Given the description of an element on the screen output the (x, y) to click on. 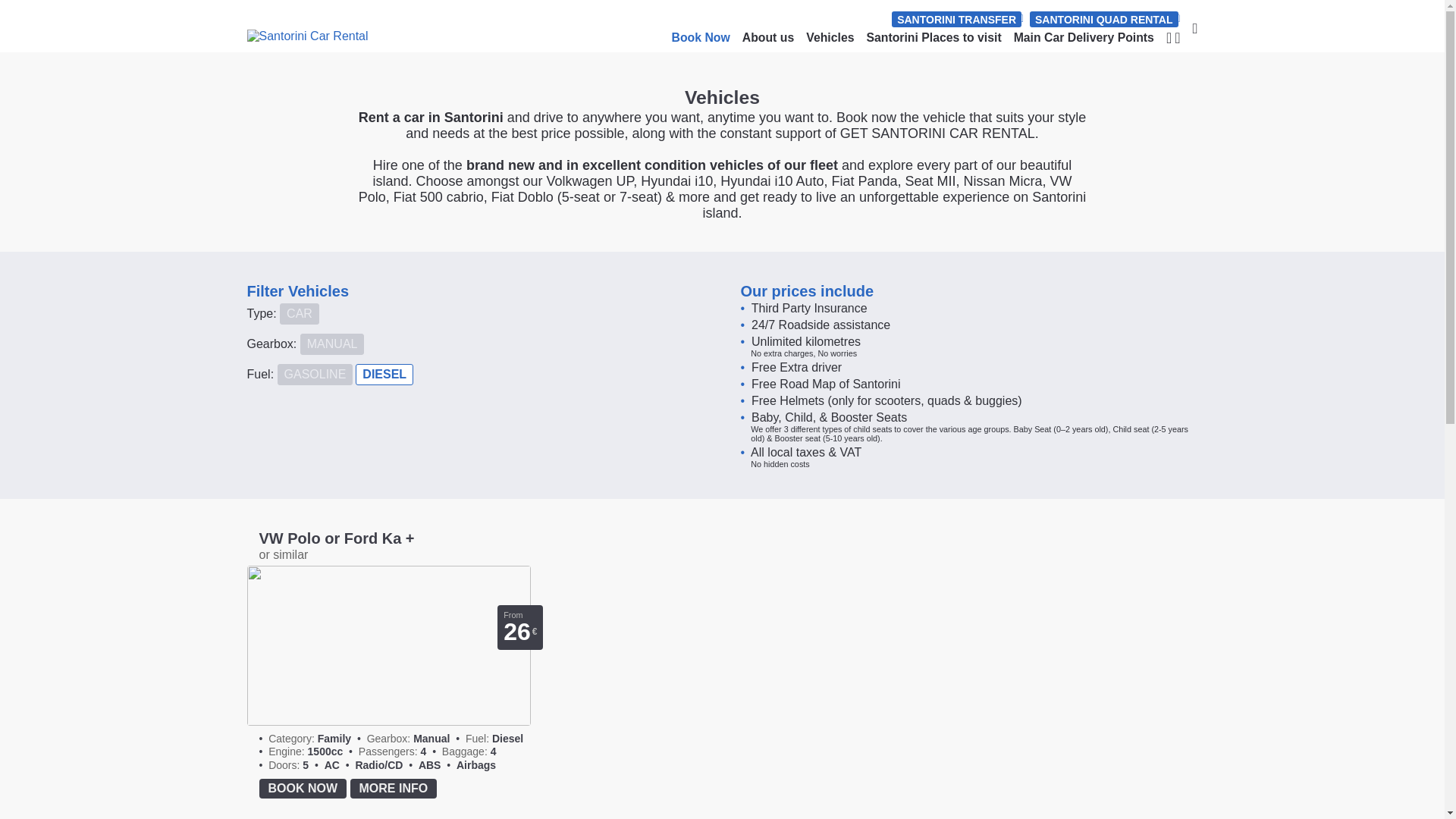
Book Now (700, 38)
MANUAL (332, 343)
SANTORINI QUAD RENTAL (1103, 19)
BOOK NOW (303, 788)
Santorini Places to visit (933, 38)
MORE INFO (394, 788)
GASOLINE (315, 373)
CAR (298, 313)
Vehicles (829, 38)
SANTORINI TRANSFER (956, 19)
DIESEL (384, 373)
Main Car Delivery Points (1083, 38)
About us (767, 38)
